Given the description of an element on the screen output the (x, y) to click on. 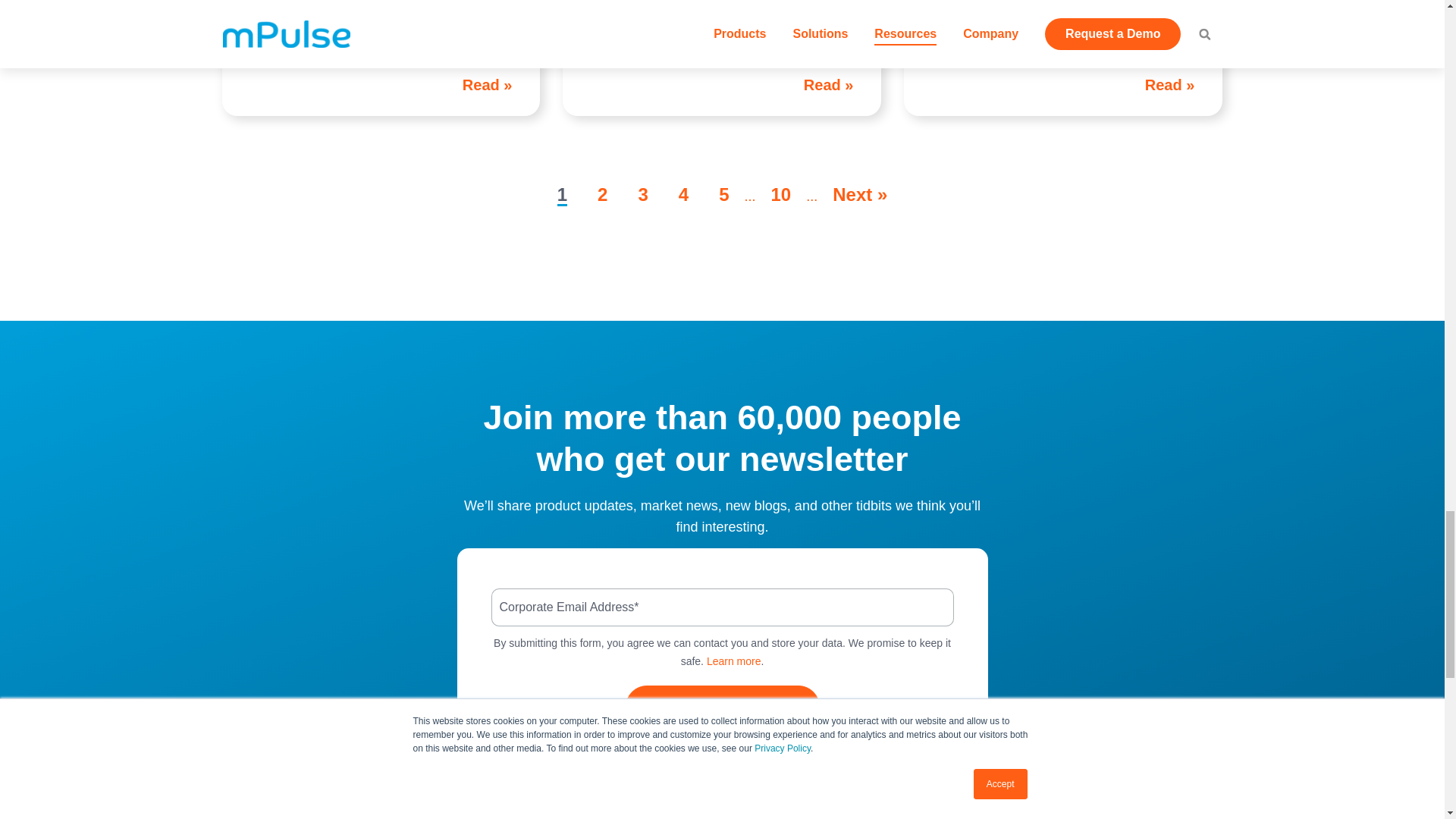
Page 10 (781, 194)
Get on the List (721, 706)
